Given the description of an element on the screen output the (x, y) to click on. 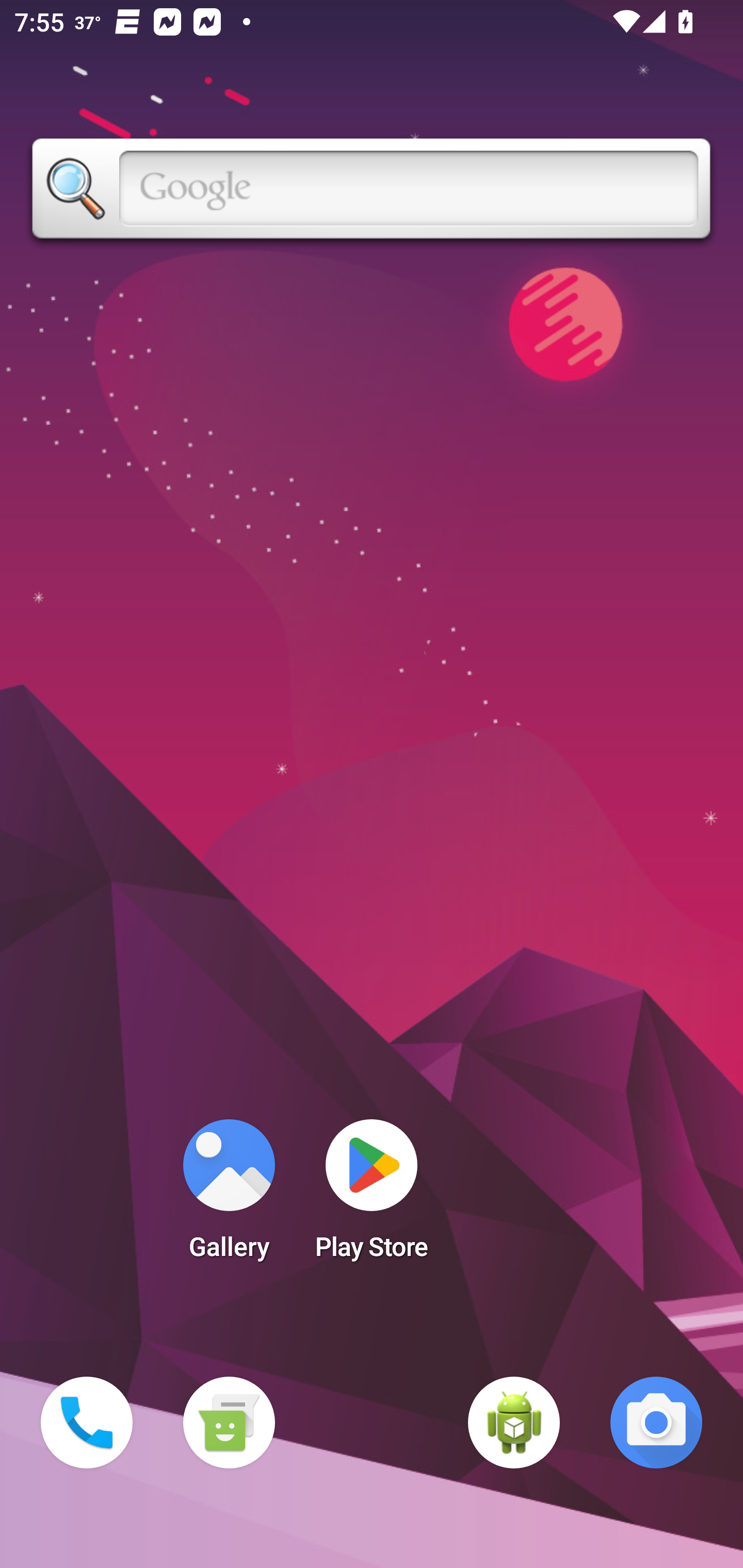
Gallery (228, 1195)
Play Store (371, 1195)
Phone (86, 1422)
Messaging (228, 1422)
WebView Browser Tester (513, 1422)
Camera (656, 1422)
